Given the description of an element on the screen output the (x, y) to click on. 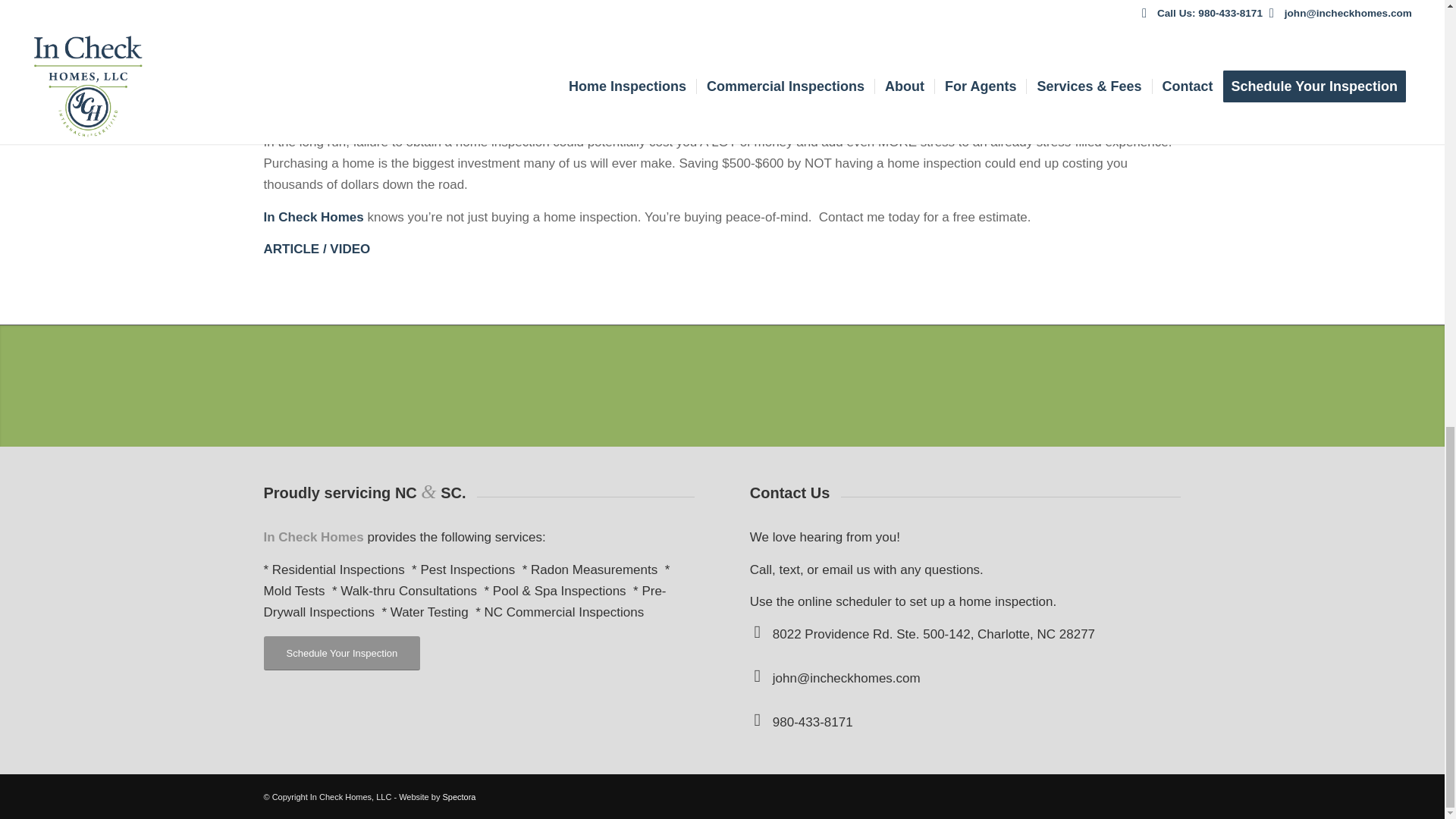
Spectora (459, 796)
Schedule Your Inspection (341, 653)
In Check Homes (313, 216)
